Given the description of an element on the screen output the (x, y) to click on. 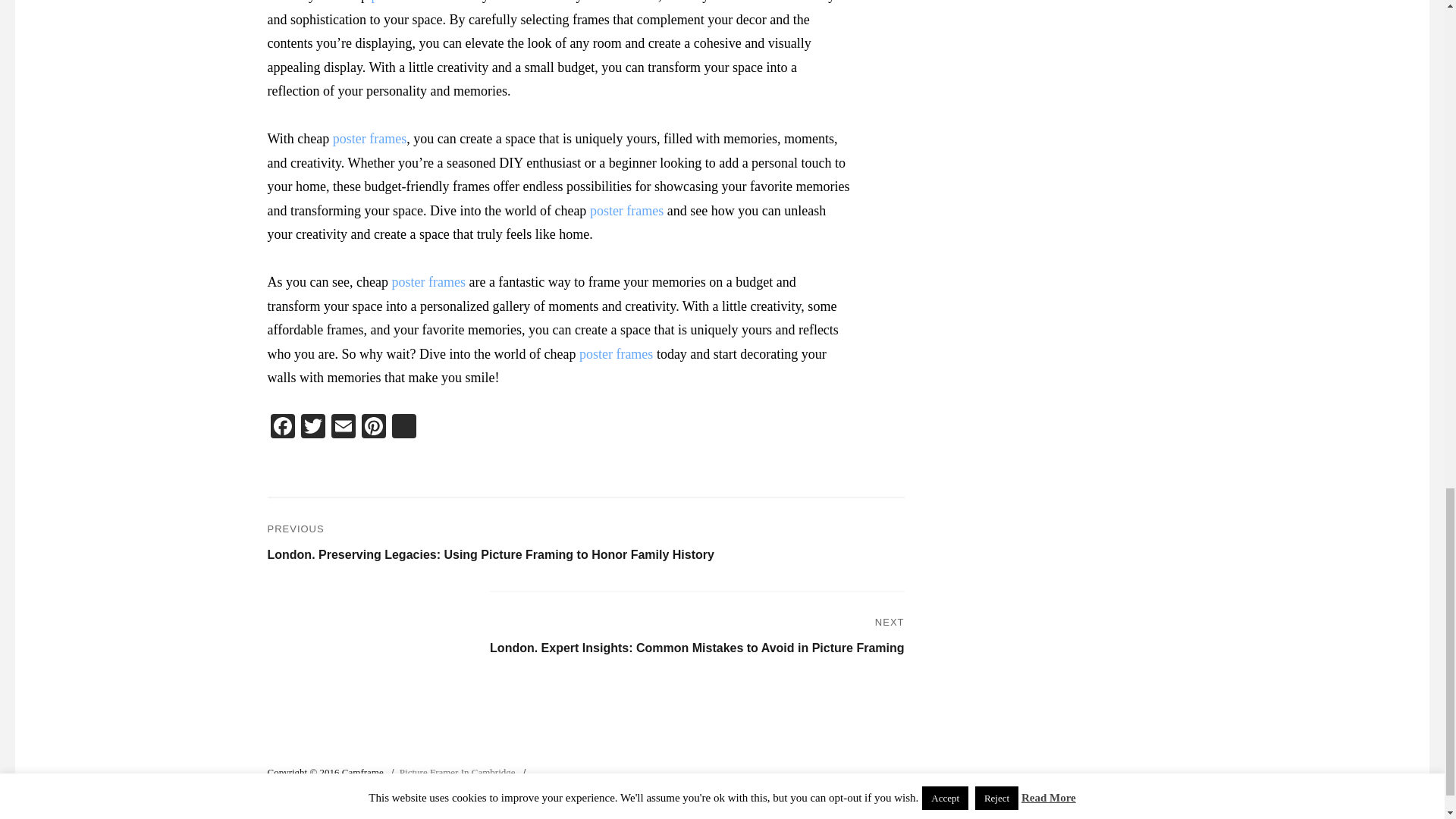
poster frames (626, 210)
Facebook (281, 428)
poster frames (369, 138)
poster frames (626, 210)
Facebook (281, 428)
poster frames (615, 353)
poster frames (407, 1)
Email (342, 428)
poster frames (615, 353)
